Given the description of an element on the screen output the (x, y) to click on. 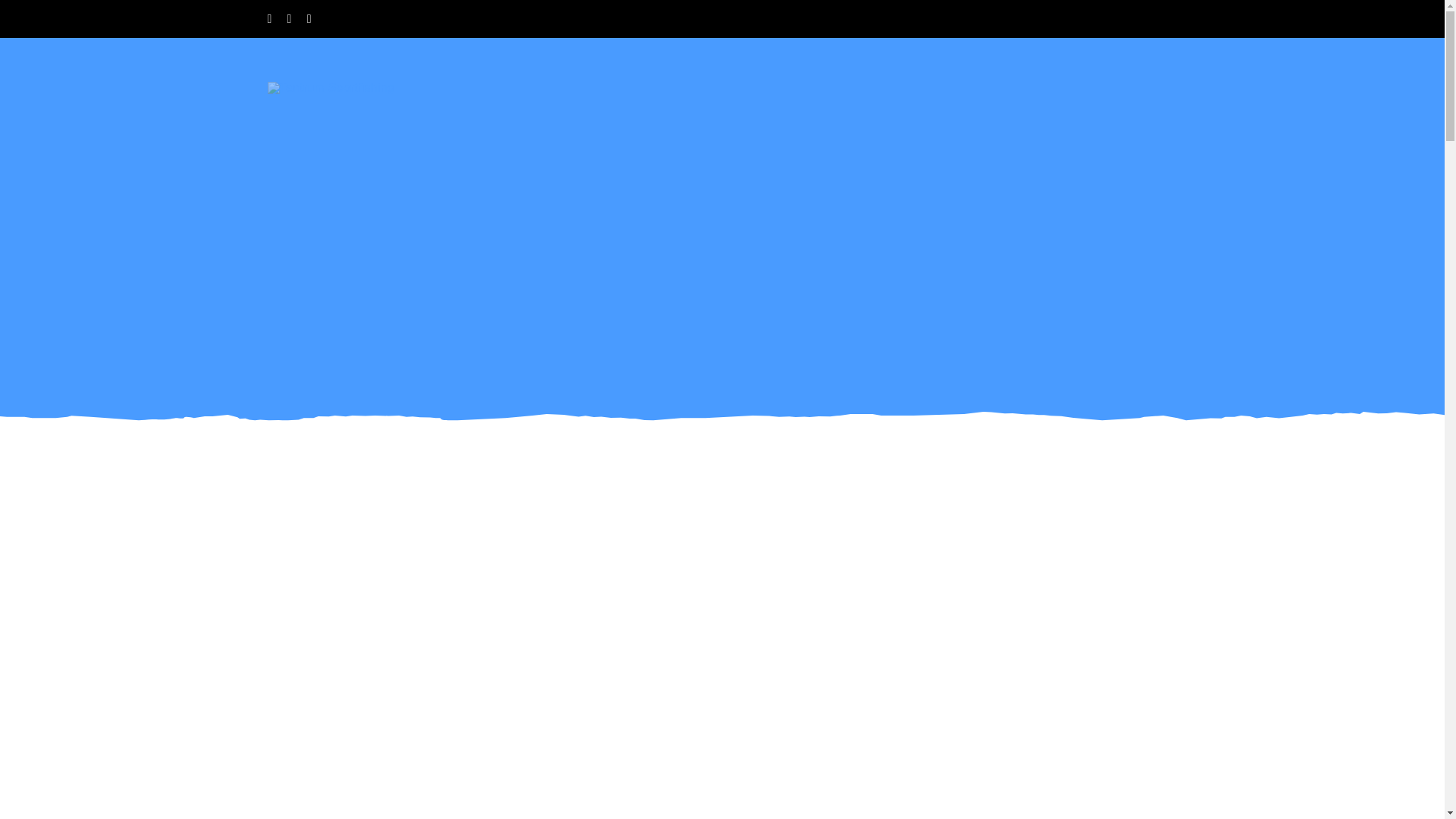
YouTube (309, 19)
Instagram (289, 19)
Facebook (268, 19)
